Given the description of an element on the screen output the (x, y) to click on. 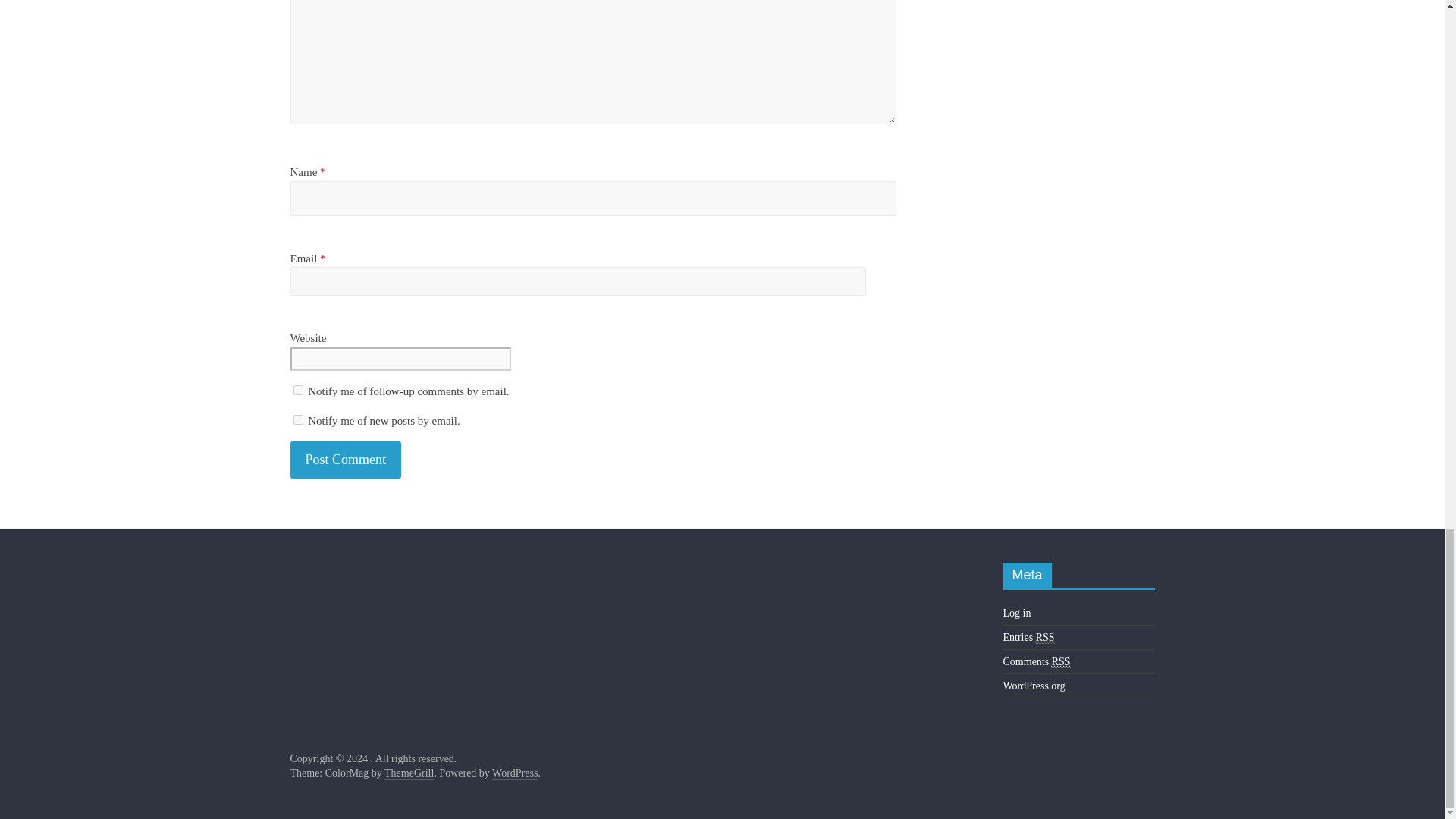
Post Comment (345, 459)
Post Comment (345, 459)
subscribe (297, 389)
subscribe (297, 419)
Really Simple Syndication (1044, 637)
